Given the description of an element on the screen output the (x, y) to click on. 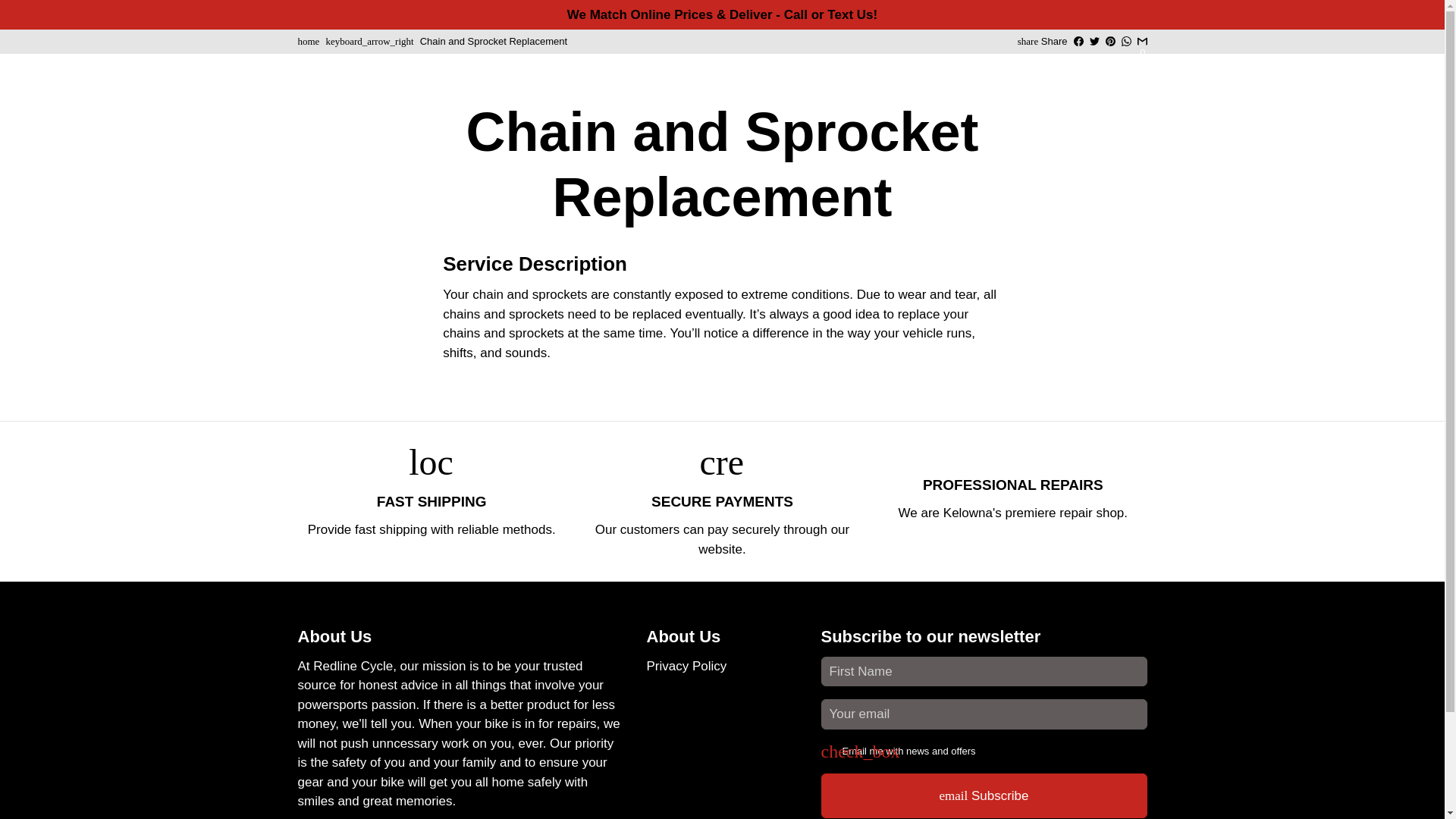
Redline cycle (307, 41)
Home (486, 62)
New Bikes (757, 62)
Privacy Policy (686, 666)
Order Parts (670, 62)
Book a Service (569, 62)
Gallery (895, 62)
Cart (1102, 61)
Search (1028, 61)
